Given the description of an element on the screen output the (x, y) to click on. 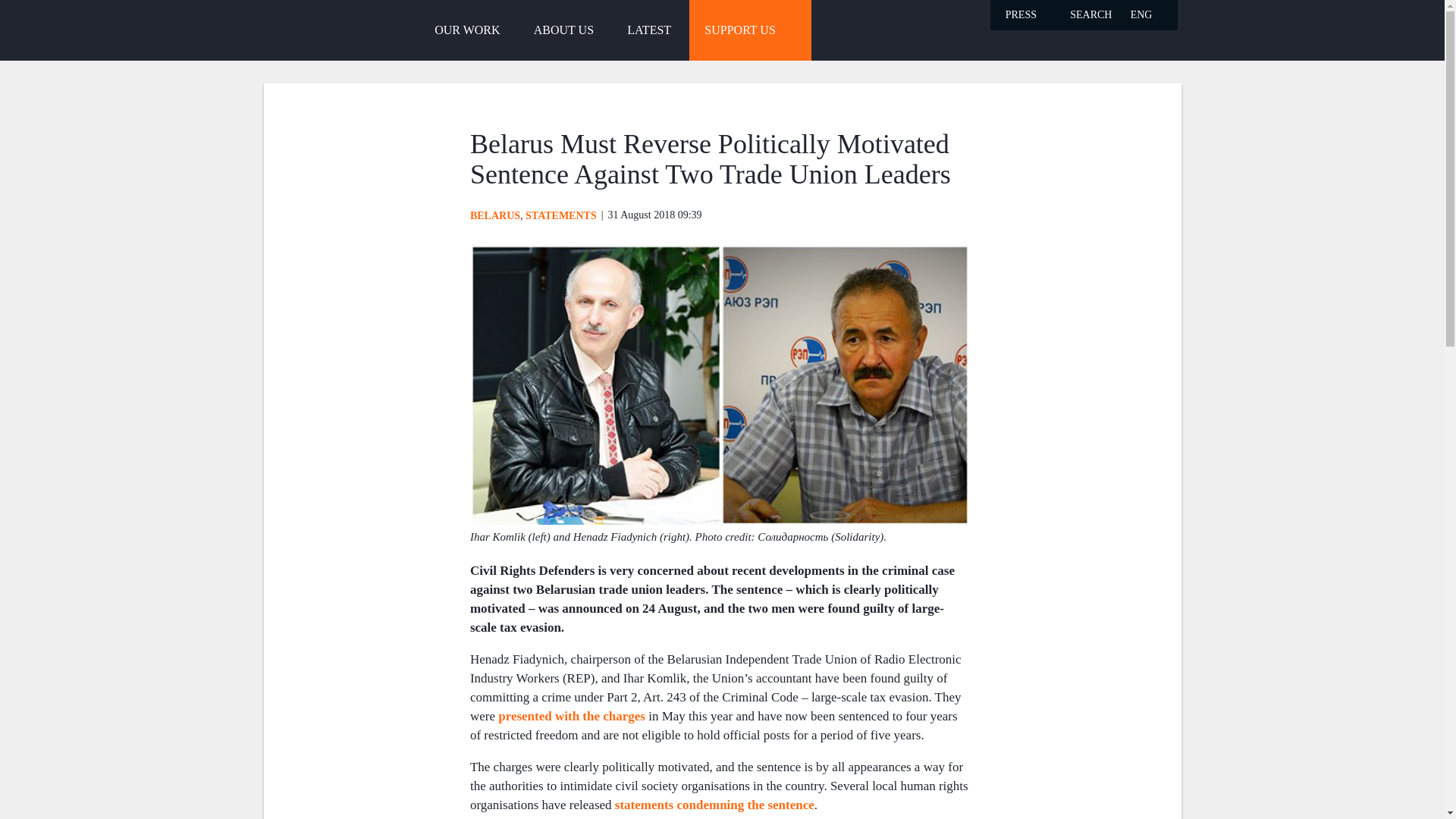
OUR WORK (467, 30)
ABOUT US (563, 30)
Civil Rights Defenders (309, 29)
LATEST (648, 30)
